Given the description of an element on the screen output the (x, y) to click on. 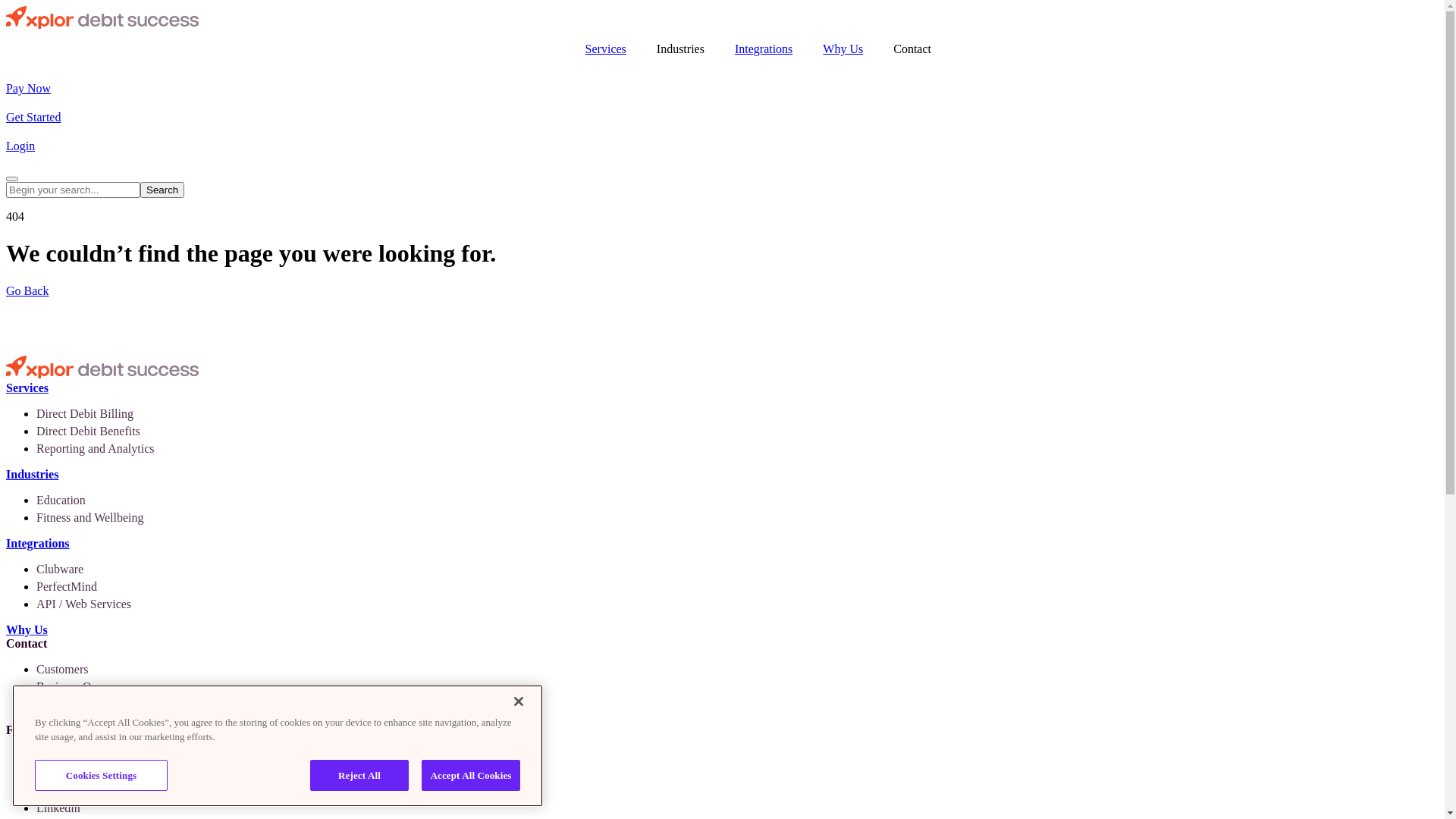
Get Started Element type: text (33, 116)
Linkedin Element type: text (58, 807)
Business Owners Element type: text (78, 686)
Fitness and Wellbeing Element type: text (90, 517)
Search Element type: text (162, 189)
Reporting and Analytics Element type: text (95, 448)
Customer Service Element type: text (79, 703)
PerfectMind Element type: text (66, 586)
Services Element type: text (605, 48)
Pay Now Element type: text (28, 87)
Reject All Element type: text (359, 775)
Industries Element type: text (680, 48)
Industries Element type: text (32, 473)
Login Element type: text (20, 145)
Direct Debit Benefits Element type: text (88, 430)
Go Back Element type: text (27, 290)
Education Element type: text (60, 499)
Contact Element type: text (912, 48)
Services Element type: text (27, 387)
Integrations Element type: text (37, 542)
Customers Element type: text (61, 668)
Cookies Settings Element type: text (100, 775)
API / Web Services Element type: text (83, 603)
Twitter Element type: text (53, 772)
Accept All Cookies Element type: text (470, 775)
Integrations Element type: text (763, 48)
Clubware Element type: text (59, 568)
YouTube Element type: text (58, 790)
Why Us Element type: text (26, 629)
Direct Debit Billing Element type: text (84, 413)
Why Us Element type: text (842, 48)
Facebook Element type: text (59, 755)
